Given the description of an element on the screen output the (x, y) to click on. 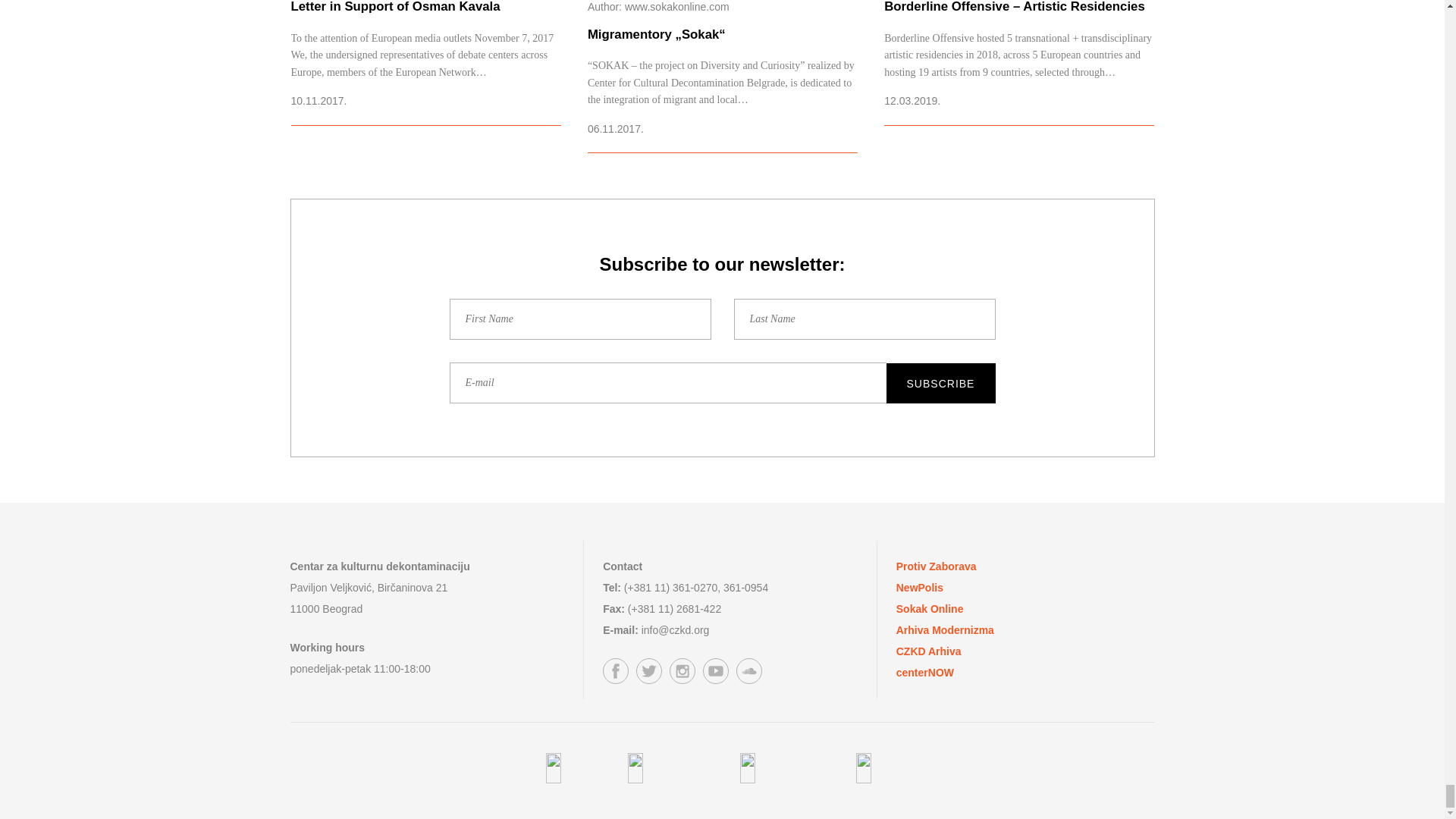
Letter in Support of Osman Kavala (425, 62)
Subscribe (939, 383)
